Given the description of an element on the screen output the (x, y) to click on. 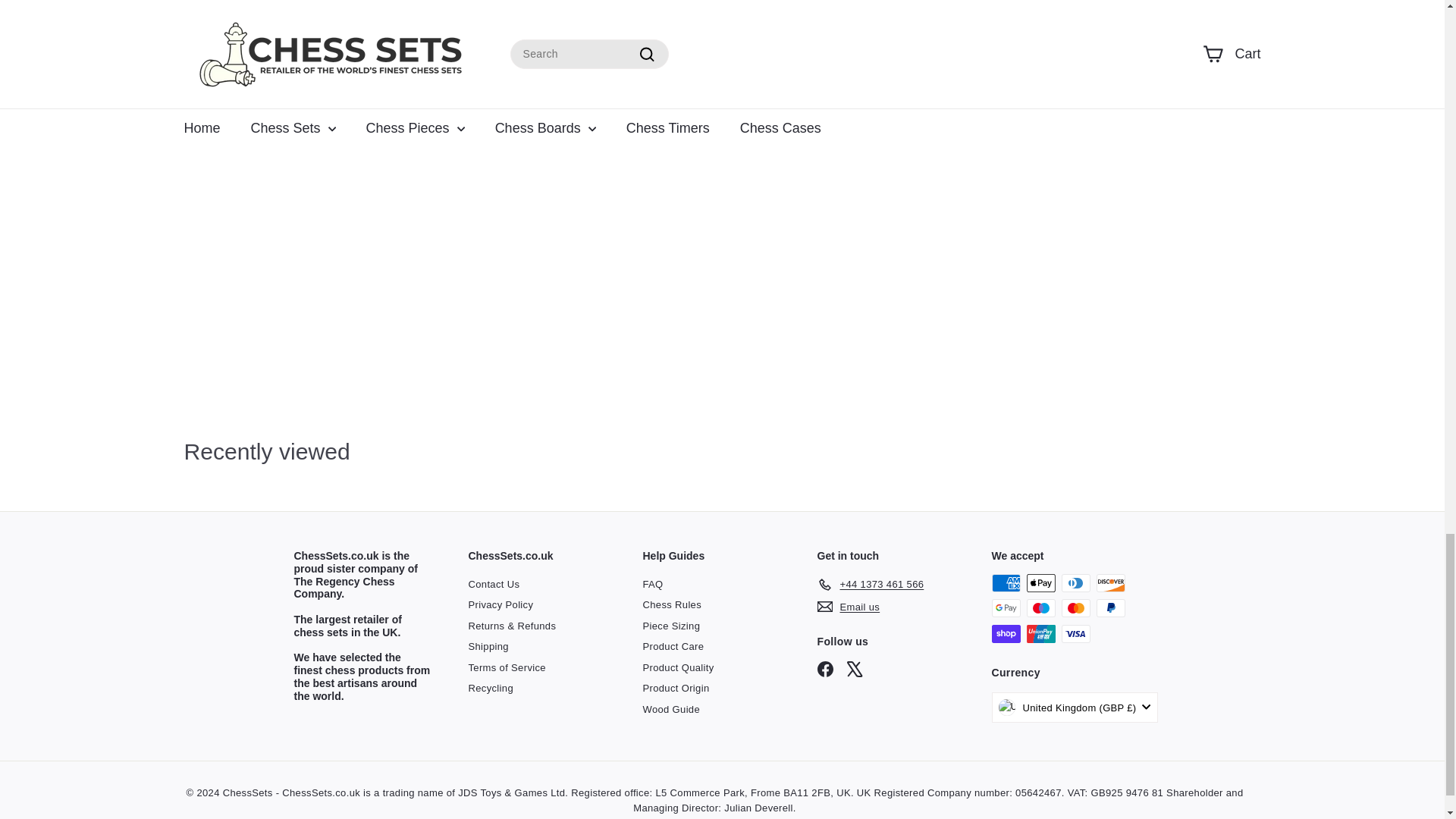
Apple Pay (1040, 583)
ChessSets on X (855, 668)
Diners Club (1075, 583)
American Express (1005, 583)
ChessSets on Facebook (824, 668)
